Given the description of an element on the screen output the (x, y) to click on. 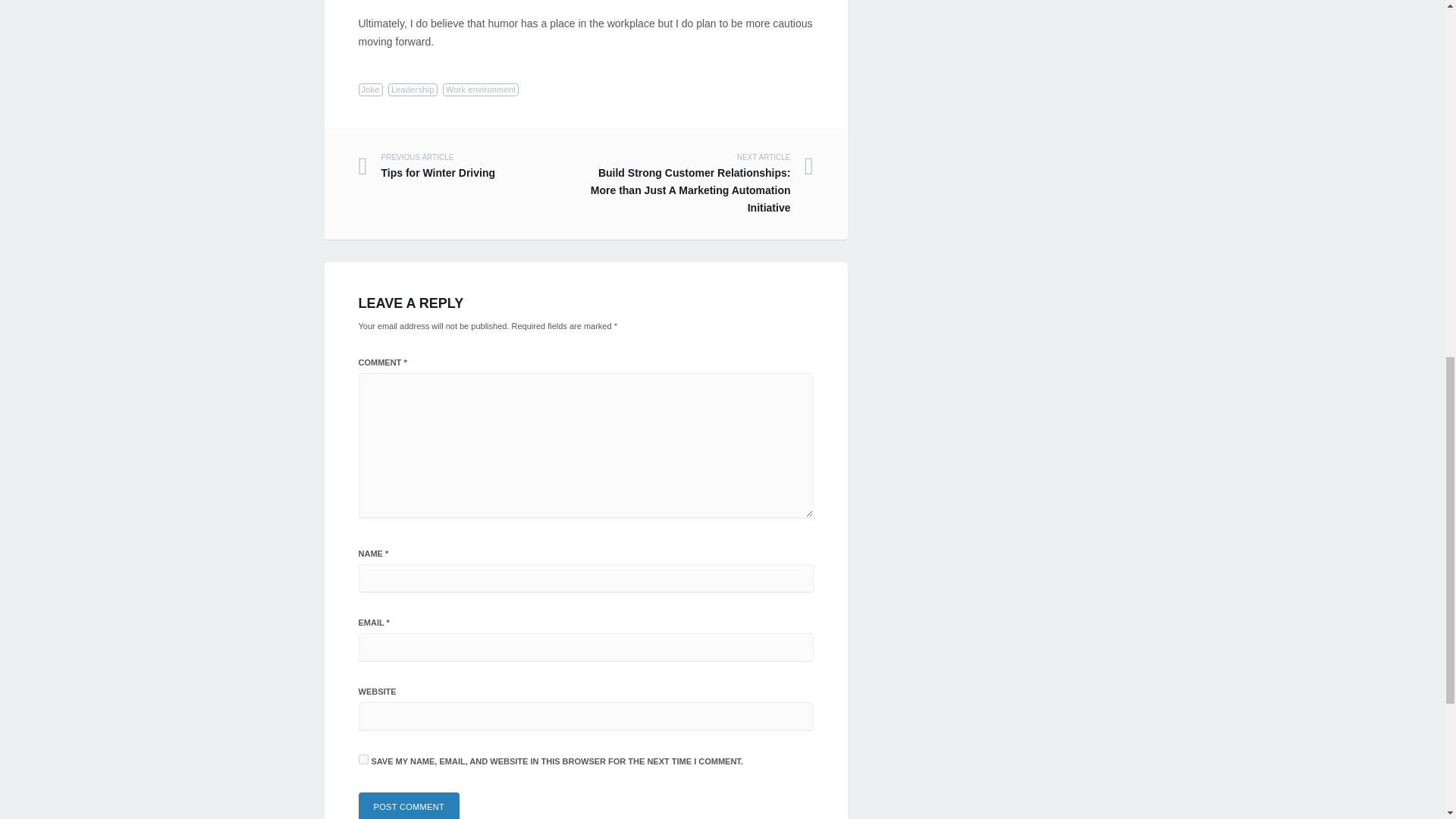
Post Comment (409, 805)
yes (363, 759)
Leadership (471, 166)
Joke (413, 89)
Post Comment (369, 89)
Work environment (409, 805)
